Given the description of an element on the screen output the (x, y) to click on. 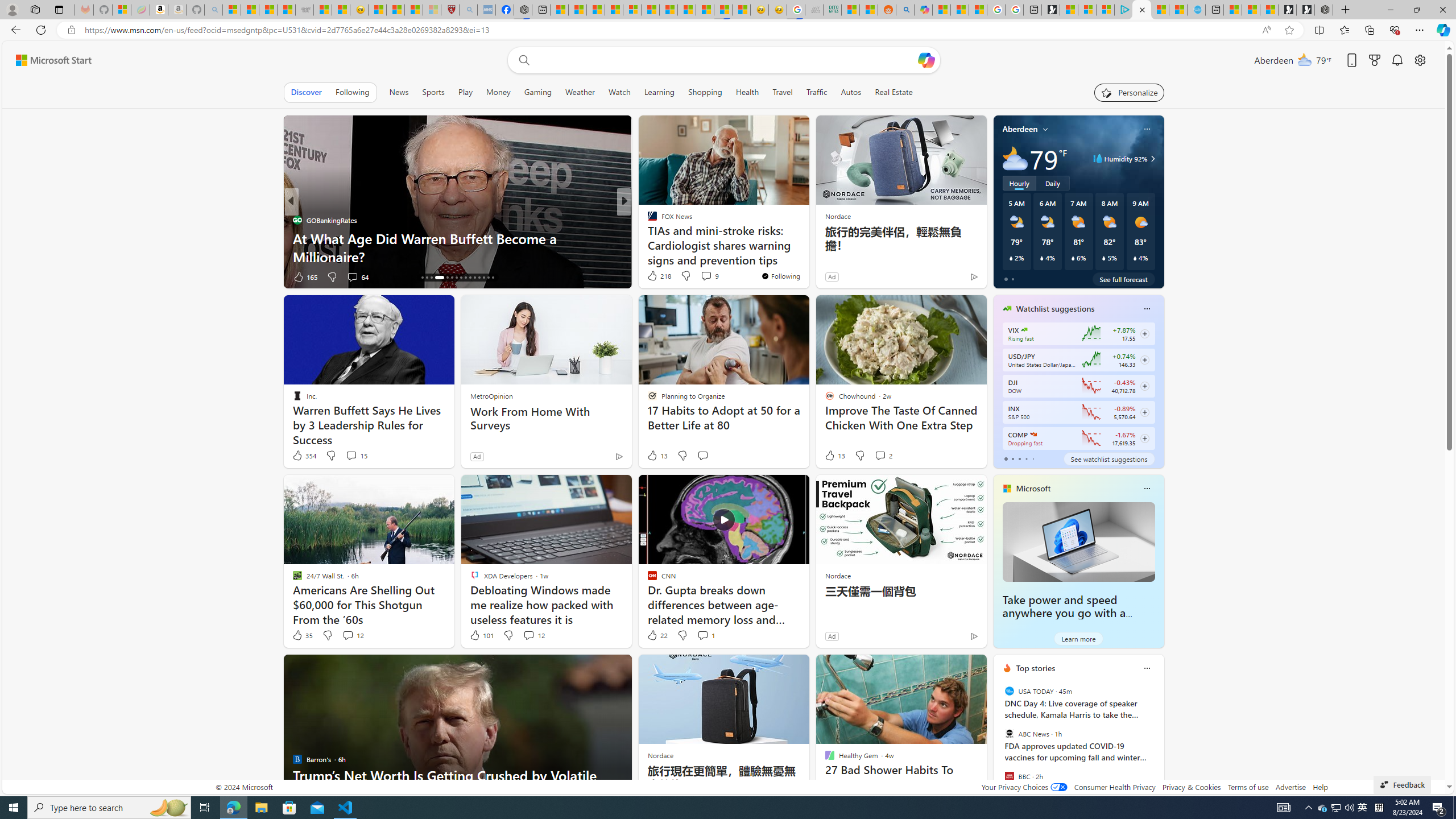
604 Like (654, 276)
View comments 23 Comment (703, 276)
Top stories (1035, 668)
22 Like (657, 634)
